Given the description of an element on the screen output the (x, y) to click on. 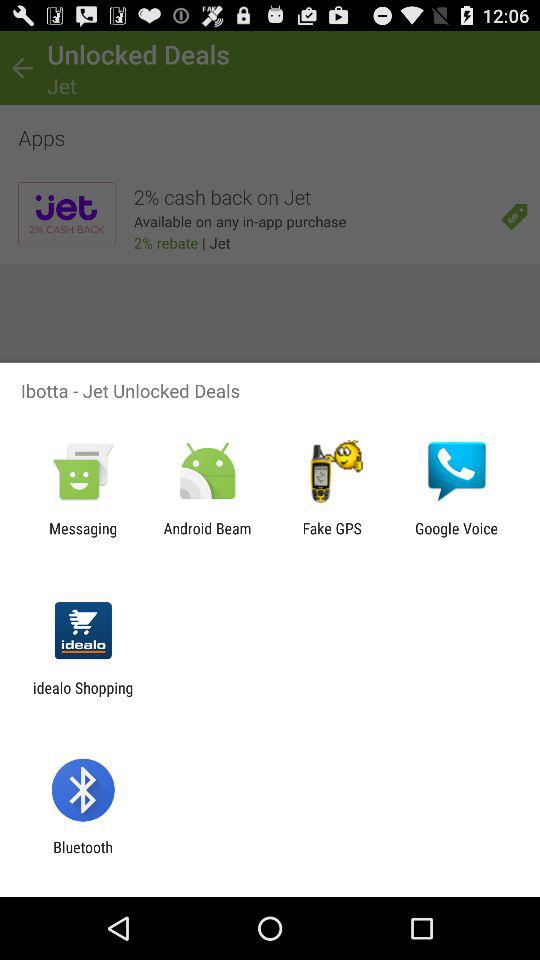
turn on icon next to the fake gps icon (456, 537)
